Given the description of an element on the screen output the (x, y) to click on. 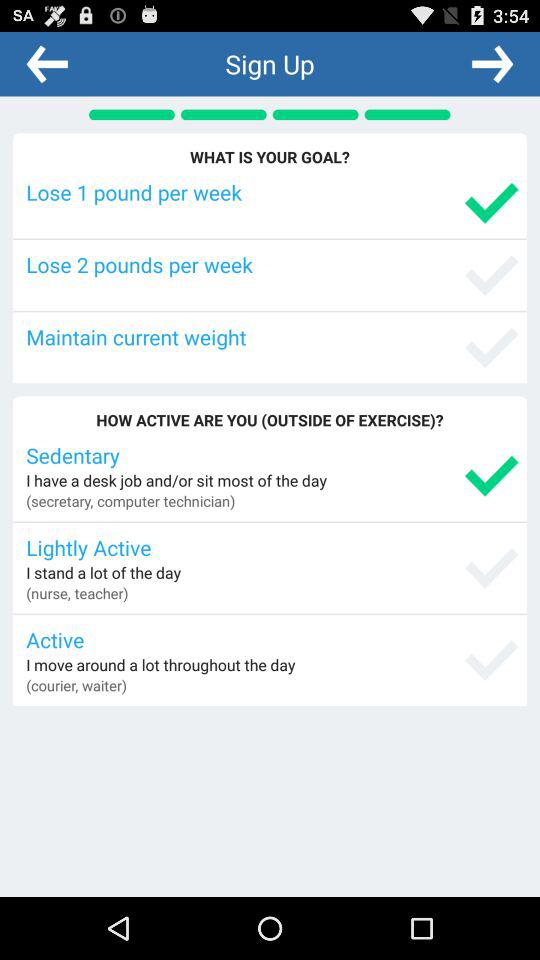
select item above lose 2 pounds app (272, 191)
